Given the description of an element on the screen output the (x, y) to click on. 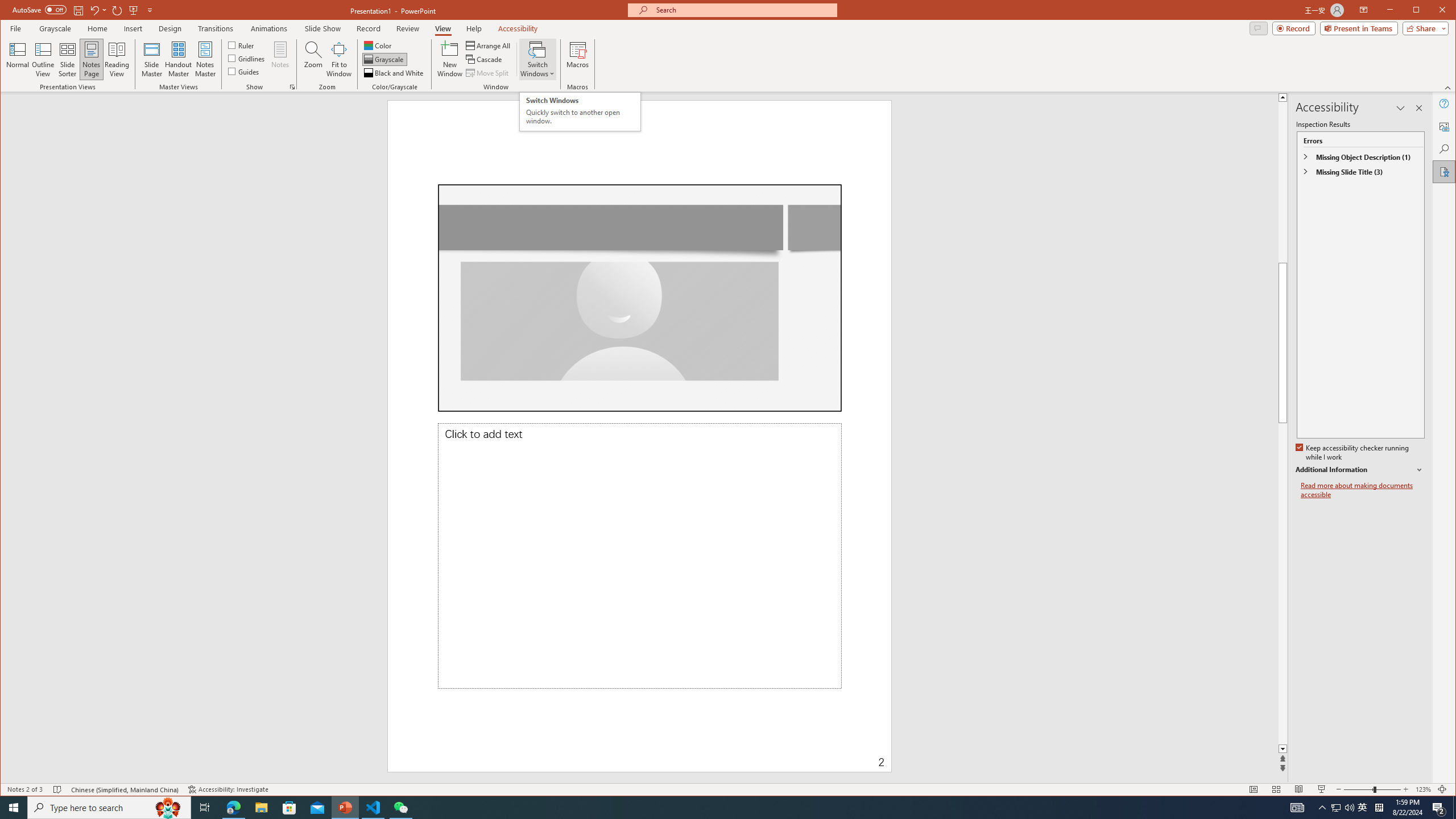
Fit to Window (579, 111)
Read more about making documents accessible (338, 59)
